Given the description of an element on the screen output the (x, y) to click on. 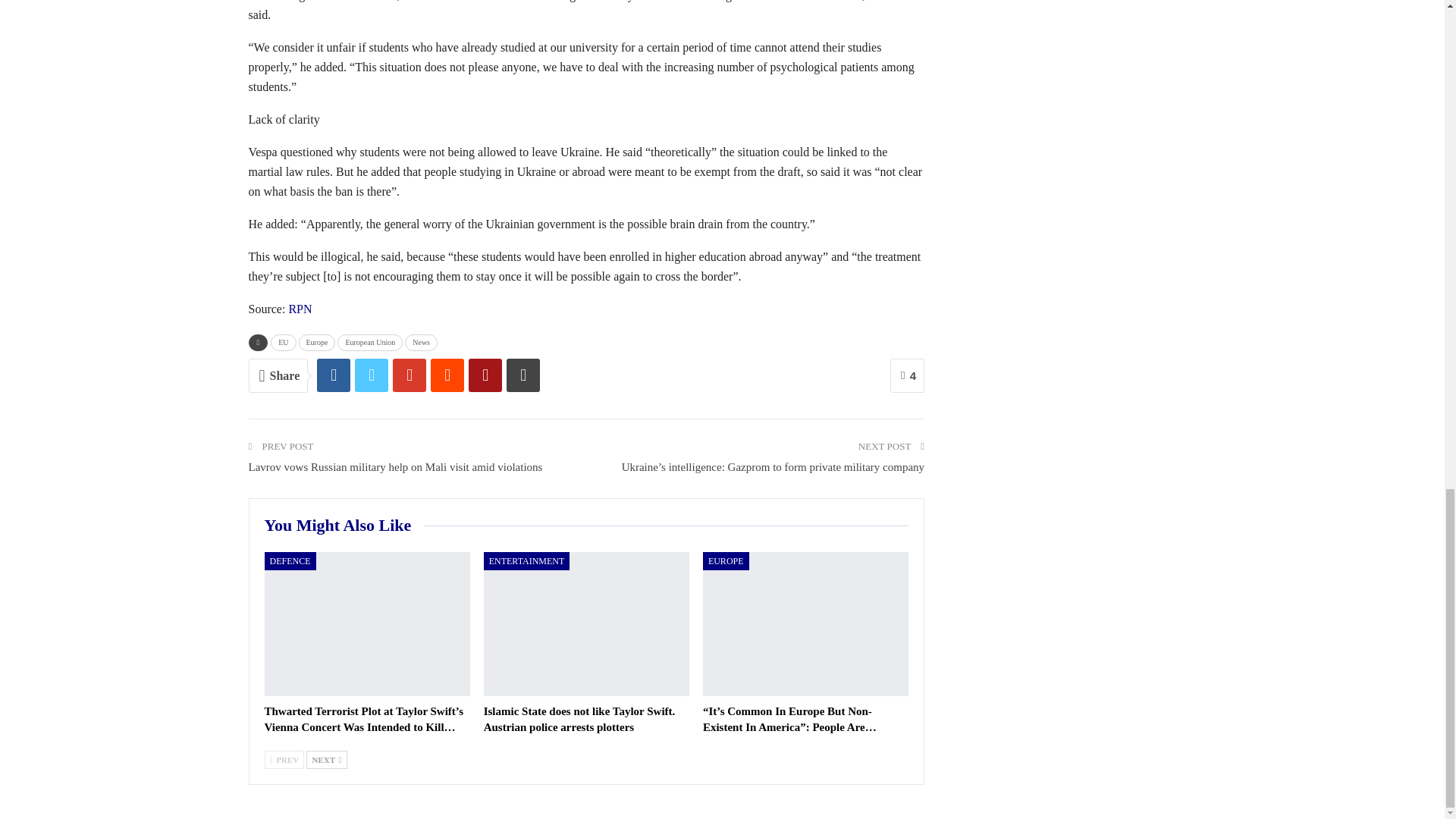
Next (325, 760)
Previous (283, 760)
